Given the description of an element on the screen output the (x, y) to click on. 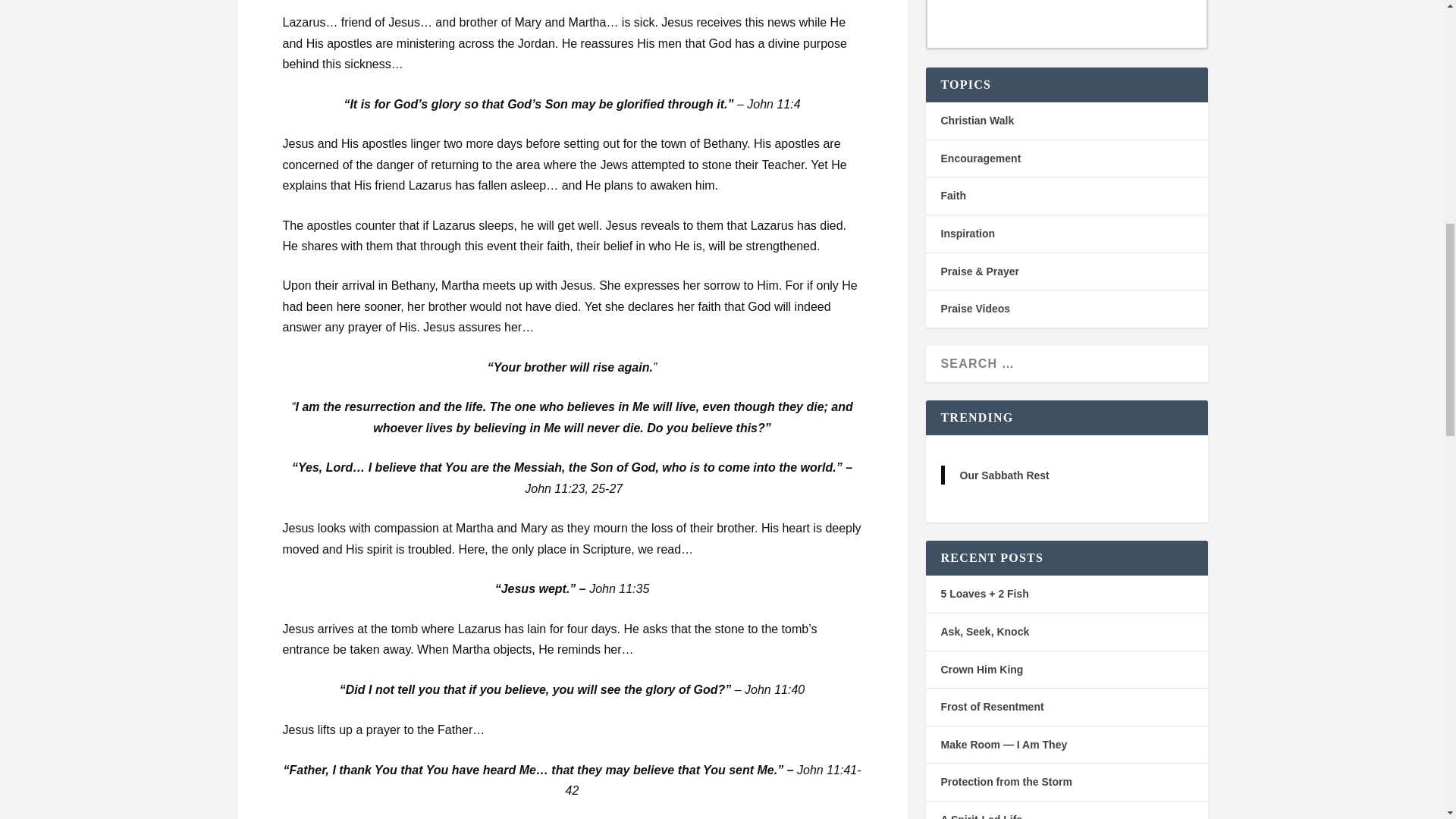
Praise Videos (975, 308)
Encouragement (980, 158)
Our Sabbath Rest (1004, 475)
Faith (952, 195)
Christian Walk (976, 120)
Inspiration (967, 233)
